Given the description of an element on the screen output the (x, y) to click on. 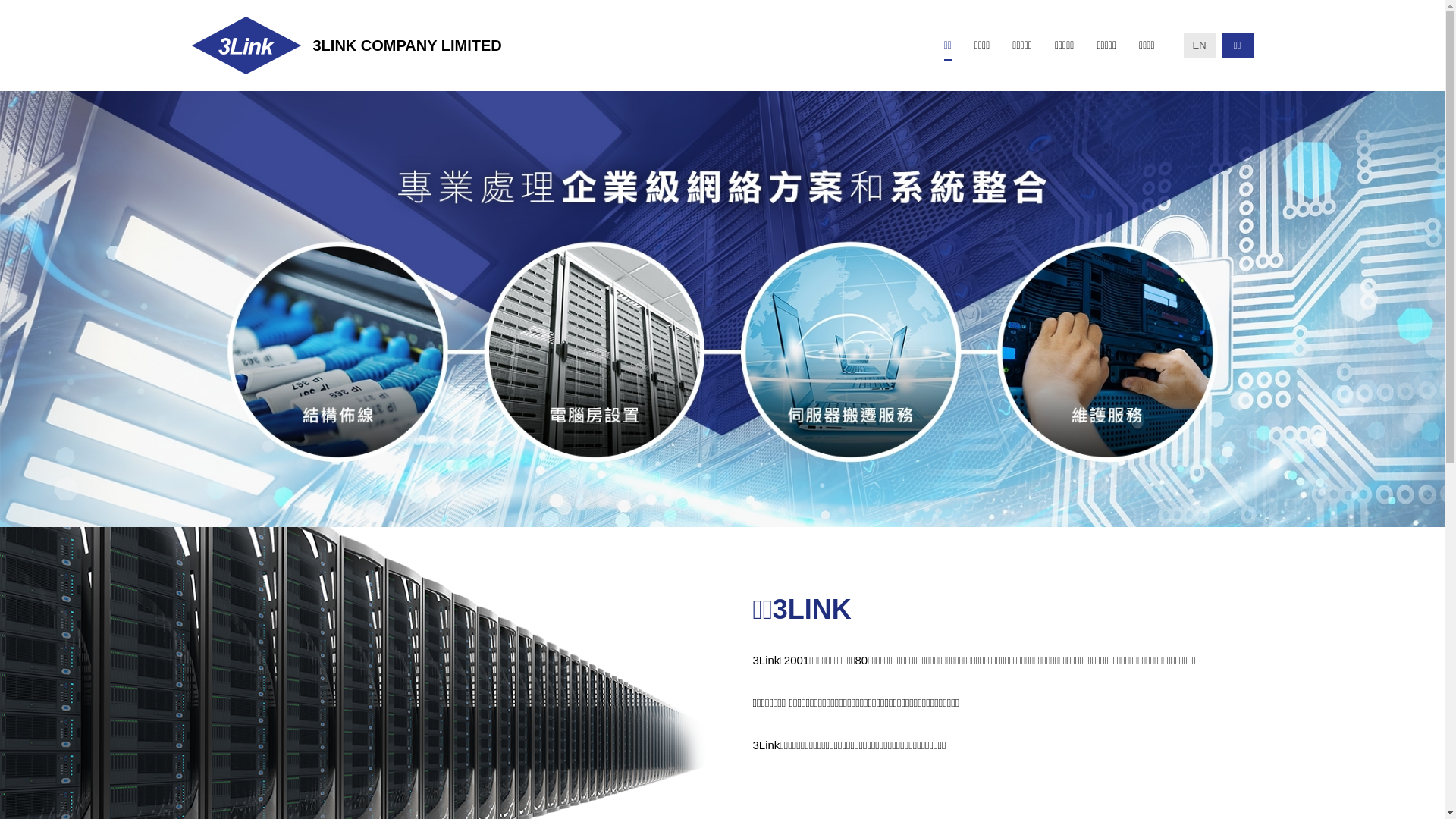
EN Element type: text (1198, 45)
3LINK COMPANY LIMITED Element type: text (346, 45)
